Given the description of an element on the screen output the (x, y) to click on. 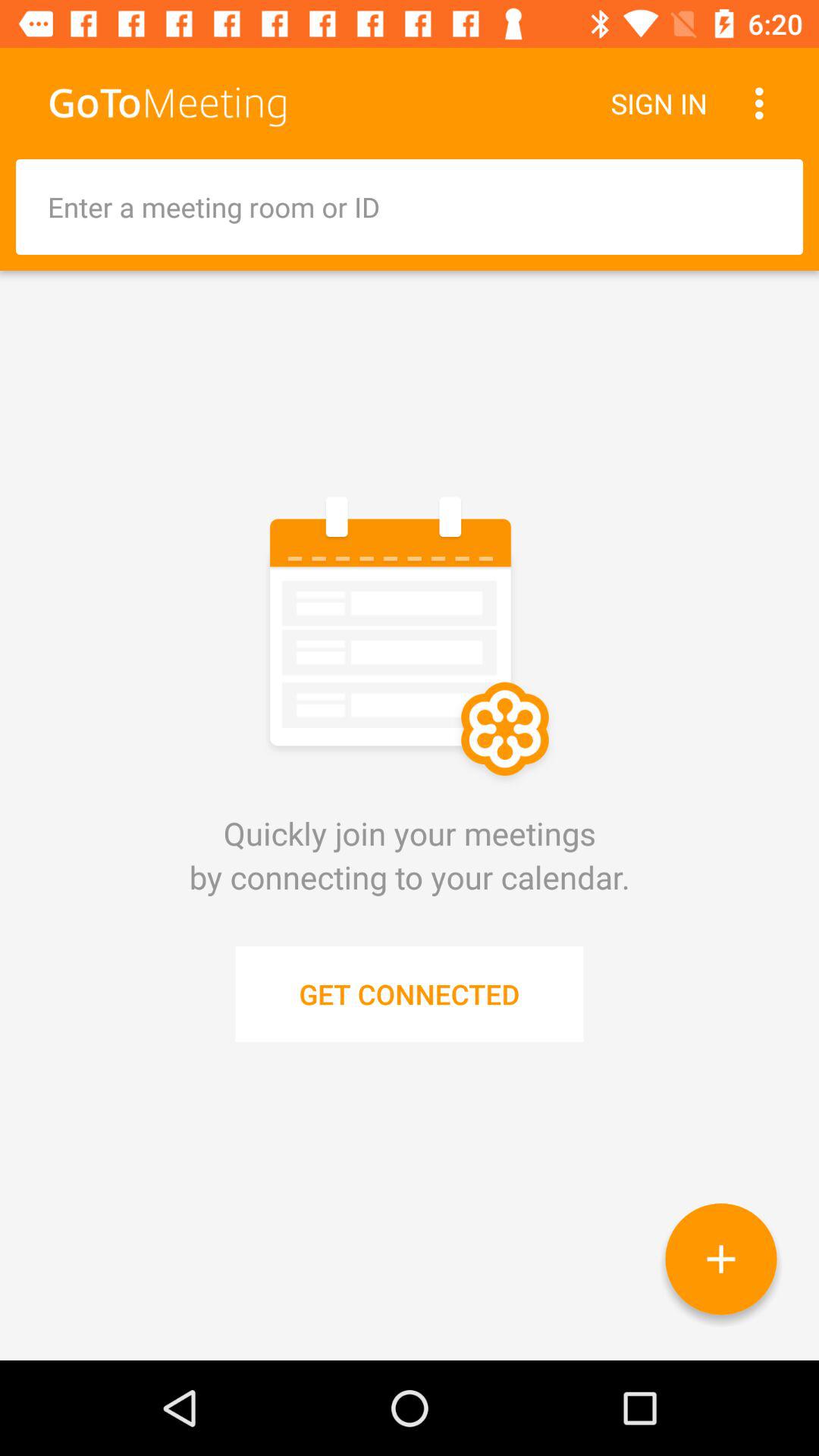
open the icon below the sign in icon (409, 206)
